Given the description of an element on the screen output the (x, y) to click on. 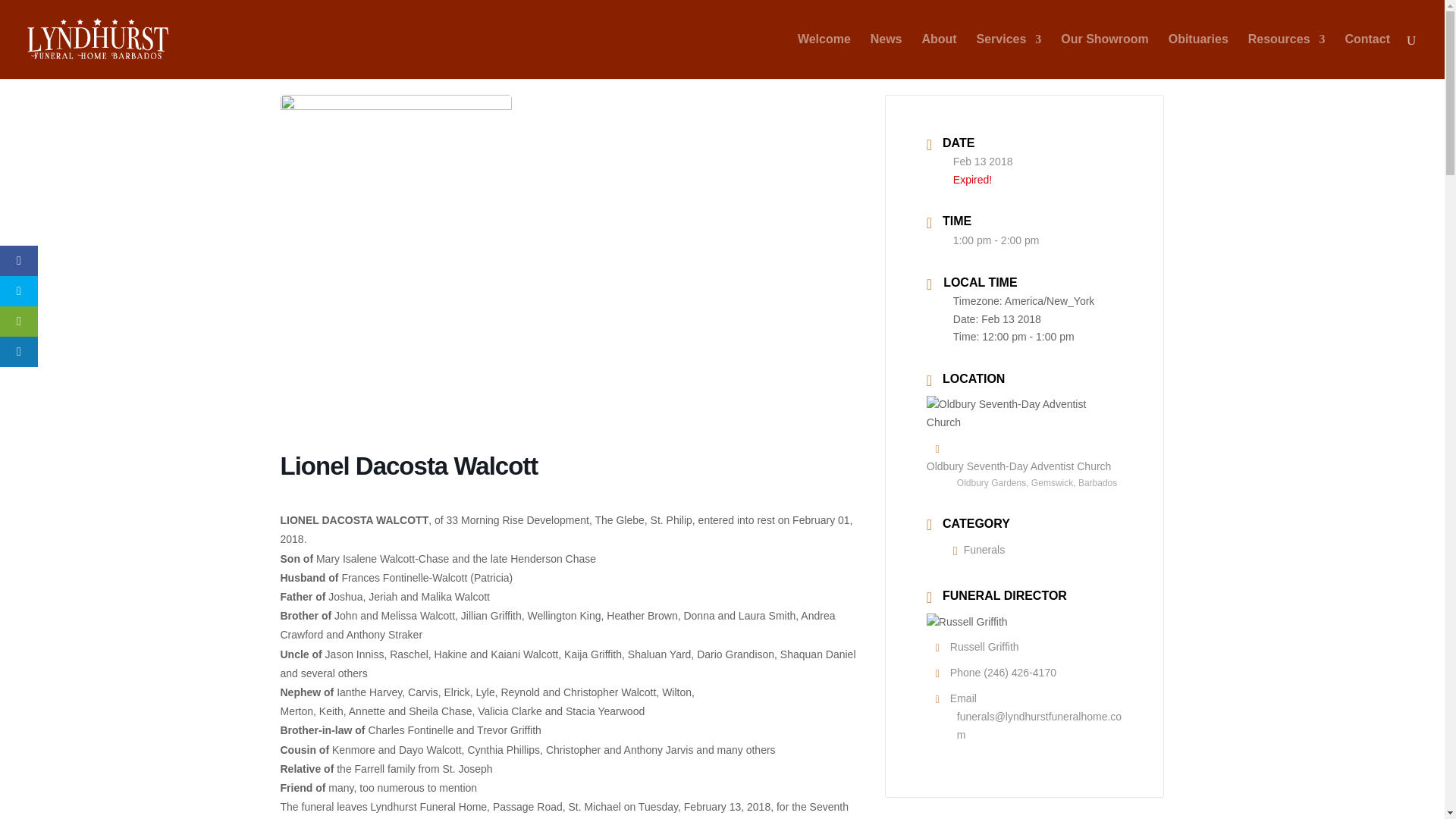
Obituaries (1198, 56)
Services (1009, 56)
Funerals (978, 549)
Welcome (823, 56)
Our Showroom (1104, 56)
Resources (1285, 56)
Contact (1366, 56)
